Given the description of an element on the screen output the (x, y) to click on. 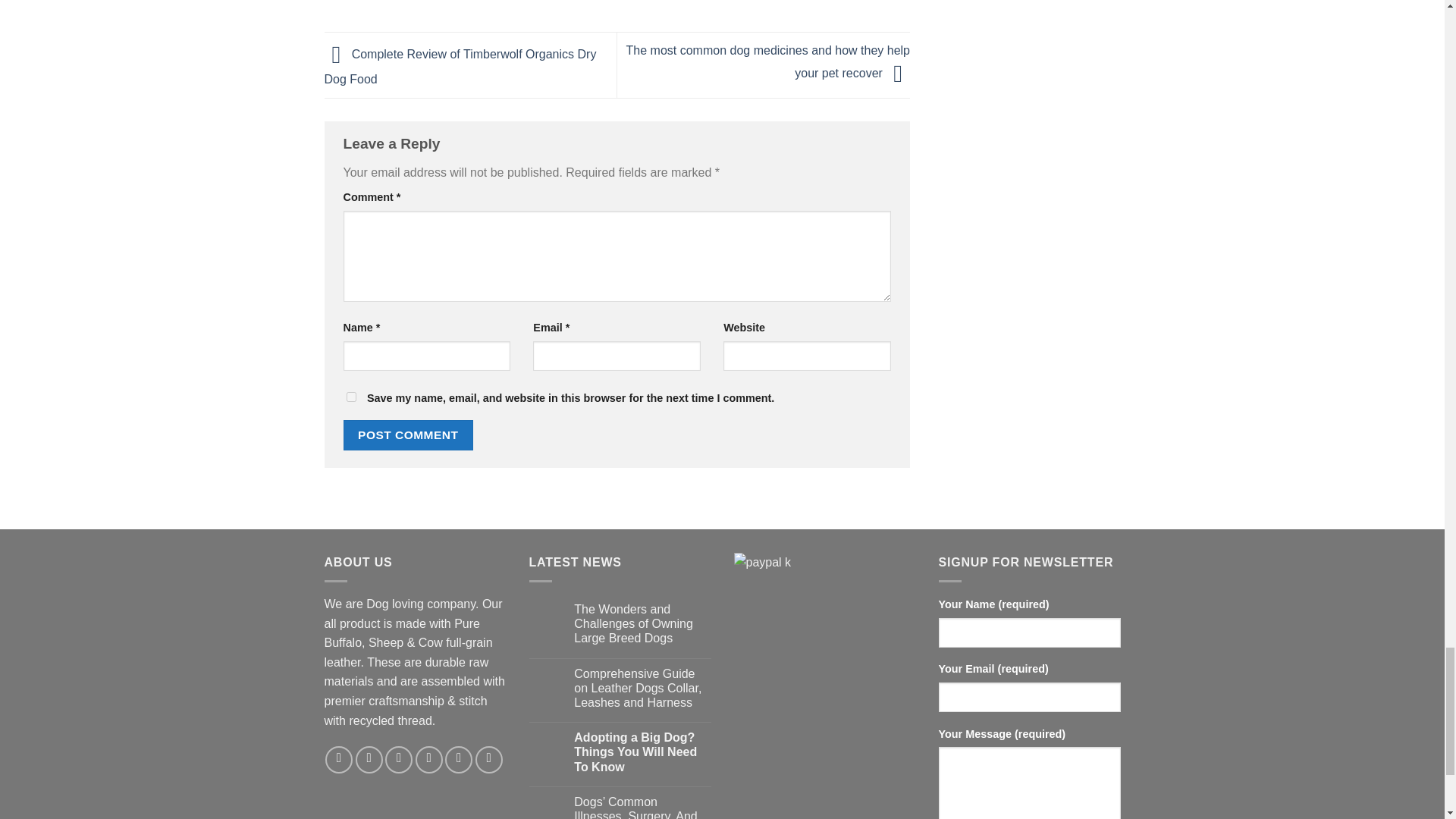
Post Comment (407, 434)
yes (350, 397)
